Given the description of an element on the screen output the (x, y) to click on. 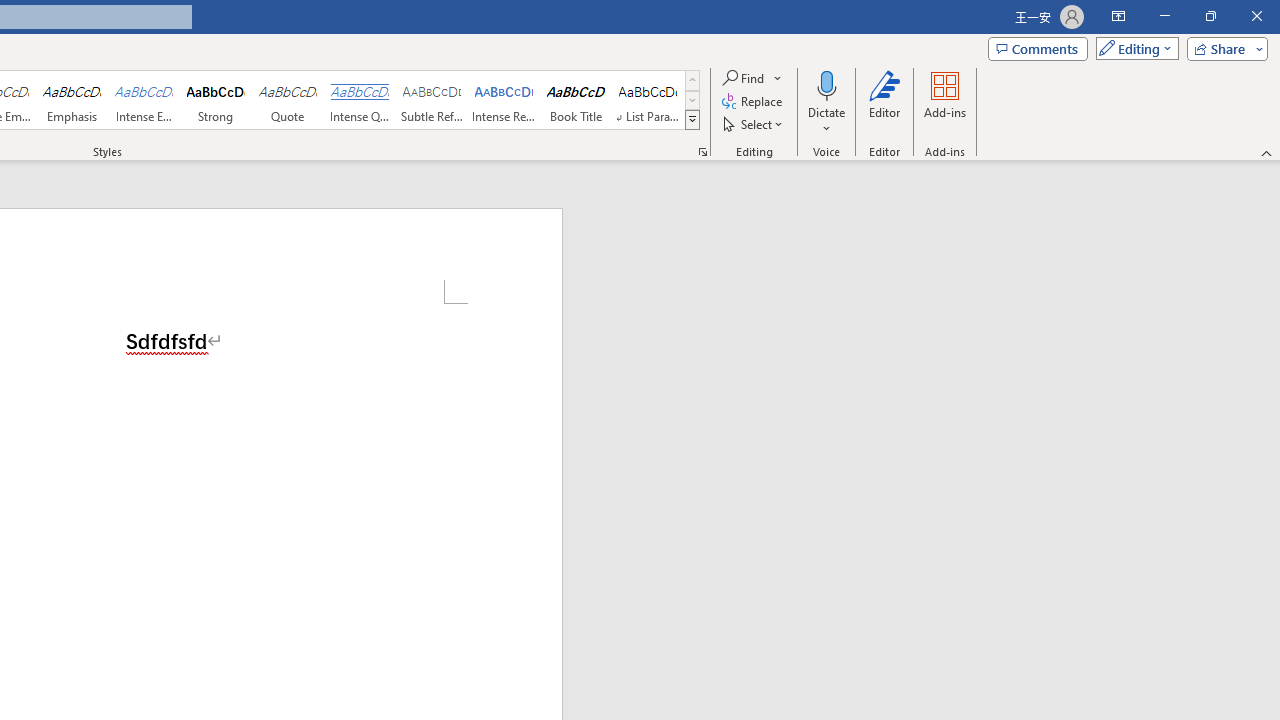
Replace... (753, 101)
Row up (692, 79)
Close (1256, 16)
Minimize (1164, 16)
More Options (826, 121)
Styles (692, 120)
Strong (216, 100)
Share (1223, 48)
Select (754, 124)
Subtle Reference (431, 100)
Mode (1133, 47)
Find (744, 78)
Quote (287, 100)
Intense Reference (504, 100)
